Given the description of an element on the screen output the (x, y) to click on. 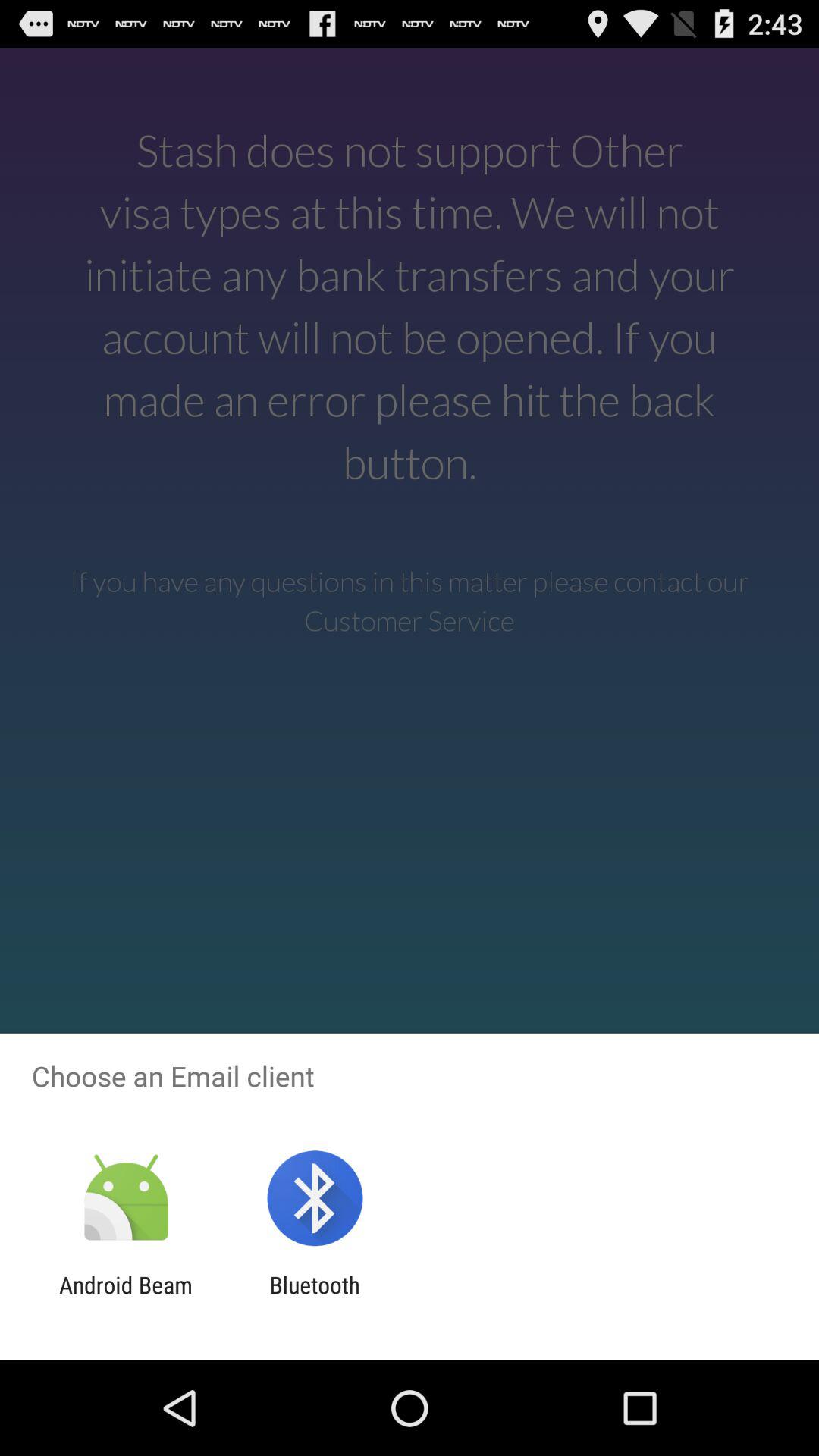
jump to the bluetooth (314, 1298)
